Given the description of an element on the screen output the (x, y) to click on. 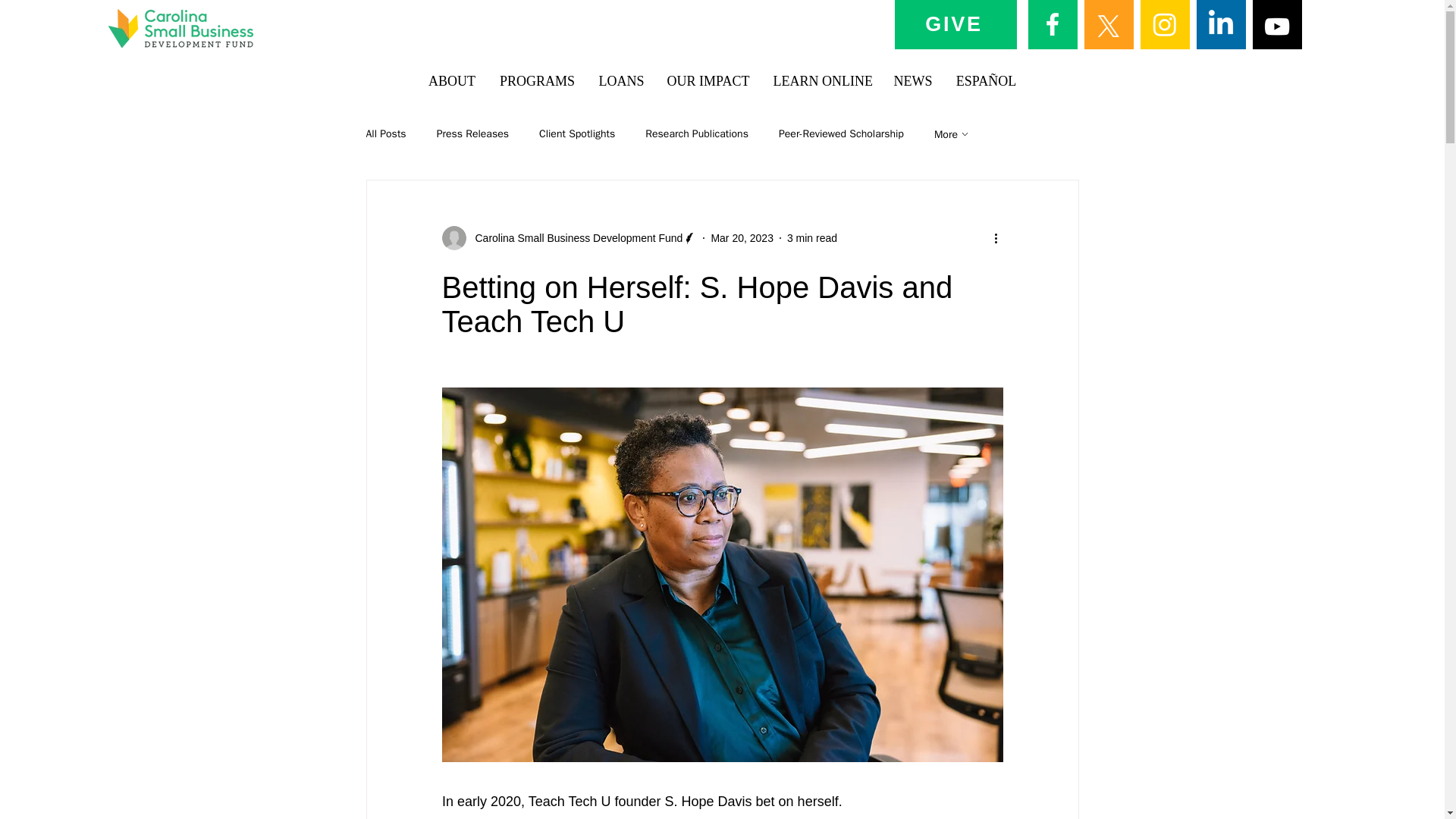
Carolina Small Business Development Fund (573, 238)
Client Spotlights (576, 133)
Press Releases (472, 133)
PROGRAMS (536, 81)
GIVE (955, 24)
LOANS (619, 81)
NEWS (911, 81)
Mar 20, 2023 (741, 237)
ABOUT (451, 81)
3 min read (812, 237)
